Given the description of an element on the screen output the (x, y) to click on. 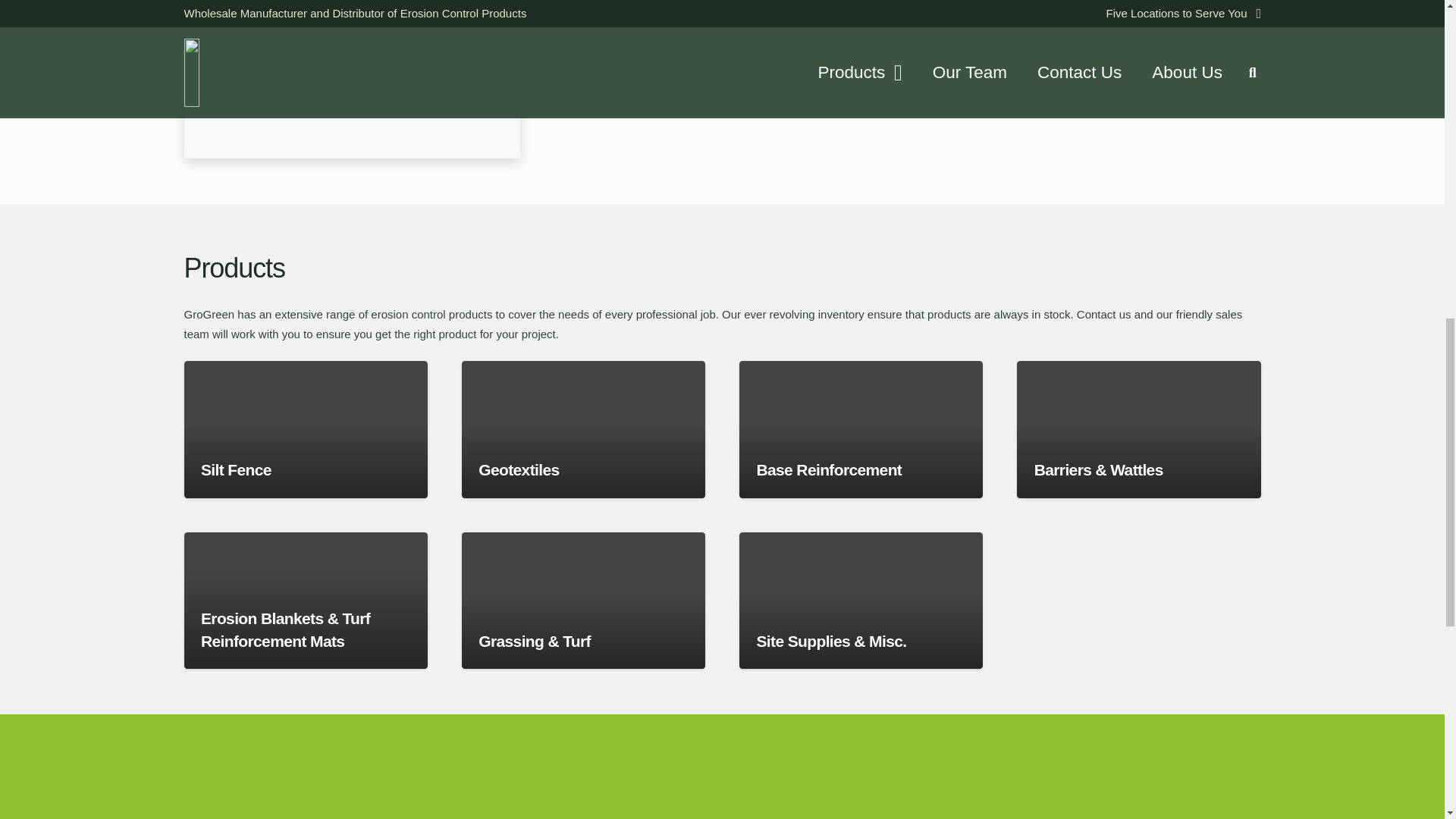
Back to top (1413, 26)
